Given the description of an element on the screen output the (x, y) to click on. 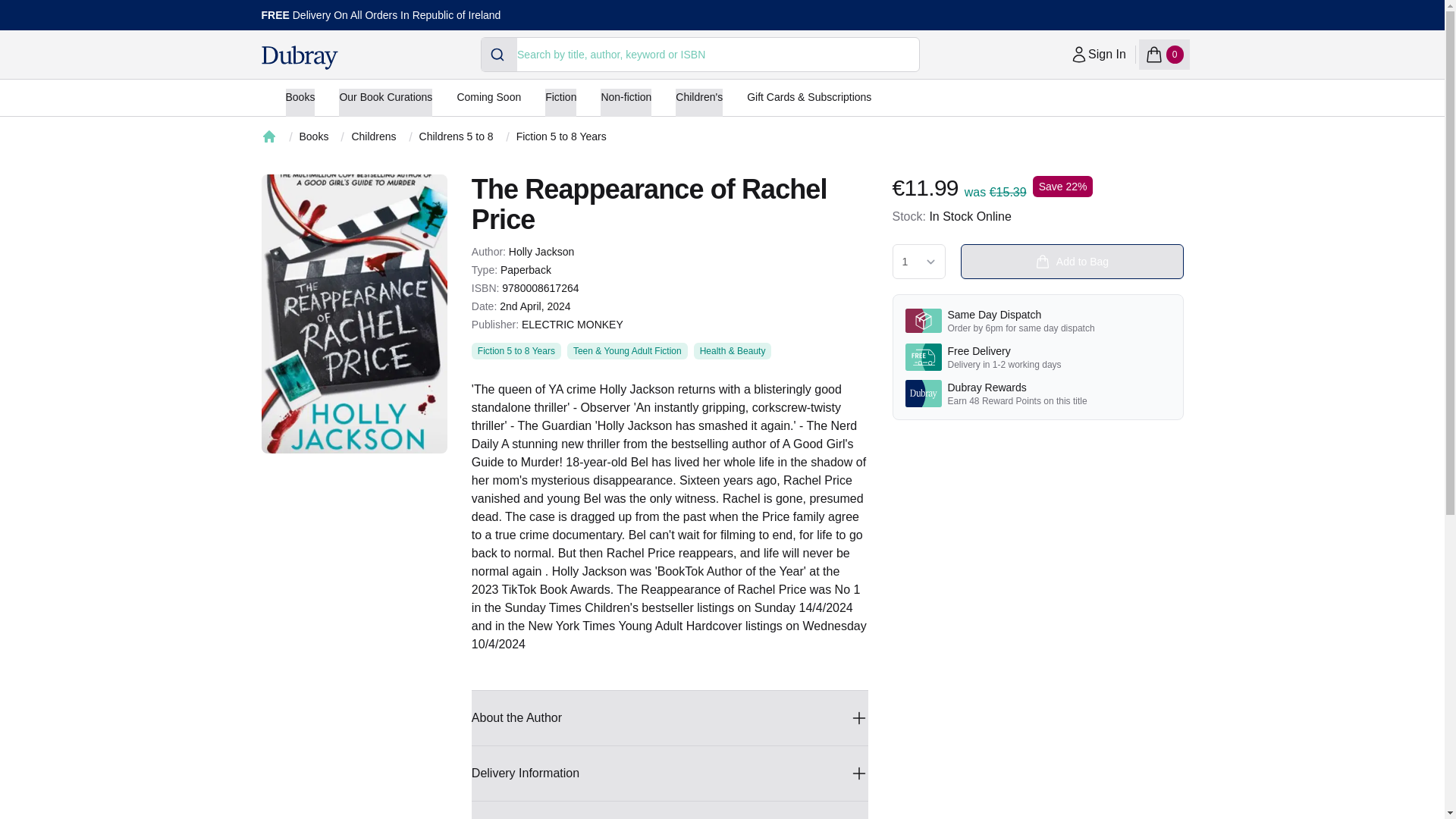
Submit (498, 54)
Product Details (669, 810)
Dubray Books (298, 57)
Non-fiction (1098, 54)
Fiction (624, 102)
Fiction 5 to 8 Years (560, 102)
Books (515, 351)
Books (299, 102)
Fiction 5 to 8 Years (313, 136)
Our Book Curations (561, 136)
Add to Bag (385, 102)
About the Author (1070, 261)
Childrens 5 to 8 (1163, 54)
